Given the description of an element on the screen output the (x, y) to click on. 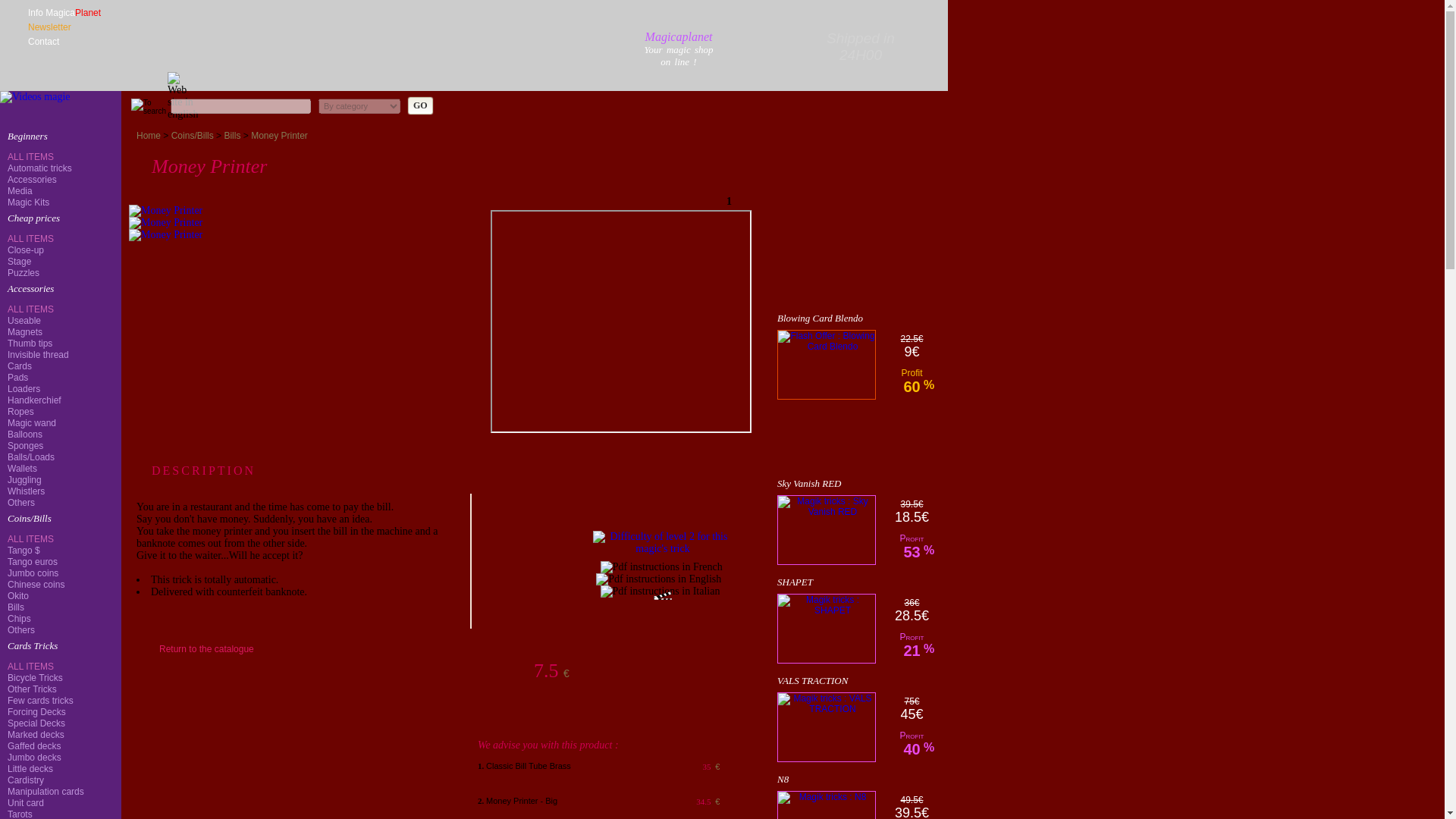
Whistlers (58, 490)
Pads (58, 377)
Newsletter Magicaplanet (64, 27)
Stage (58, 260)
Beginners (58, 136)
Sponges (58, 445)
ALL ITEMS (58, 156)
Useable (58, 319)
Handkerchief (58, 399)
Magnets (58, 331)
Media (58, 190)
Magic Kits (58, 202)
Handkerchief (58, 399)
Media (58, 190)
Contact (64, 41)
